Given the description of an element on the screen output the (x, y) to click on. 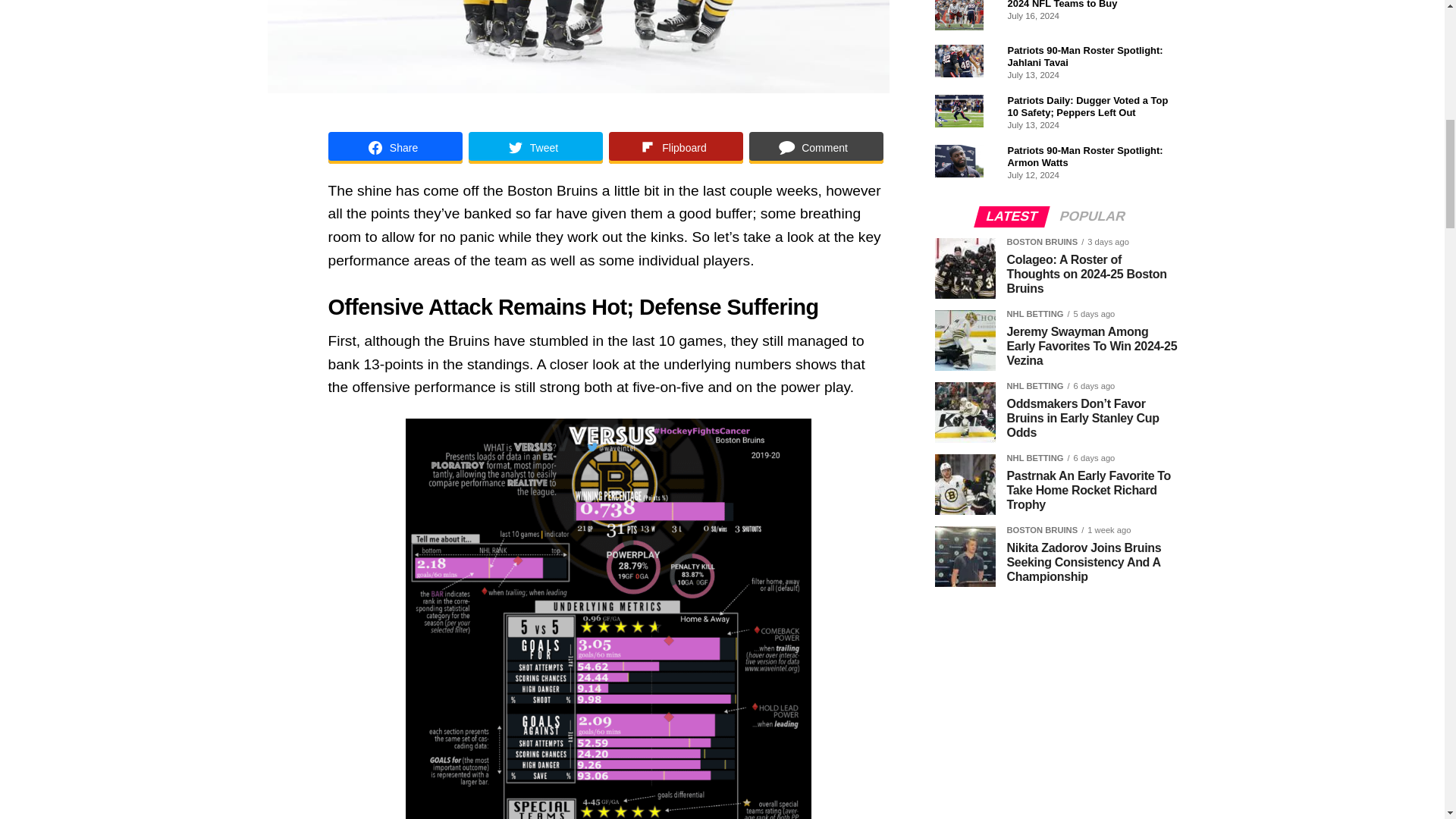
Share on Comment (816, 147)
Share on Tweet (535, 147)
Share on Flipboard (675, 147)
Share on Share (394, 147)
